Given the description of an element on the screen output the (x, y) to click on. 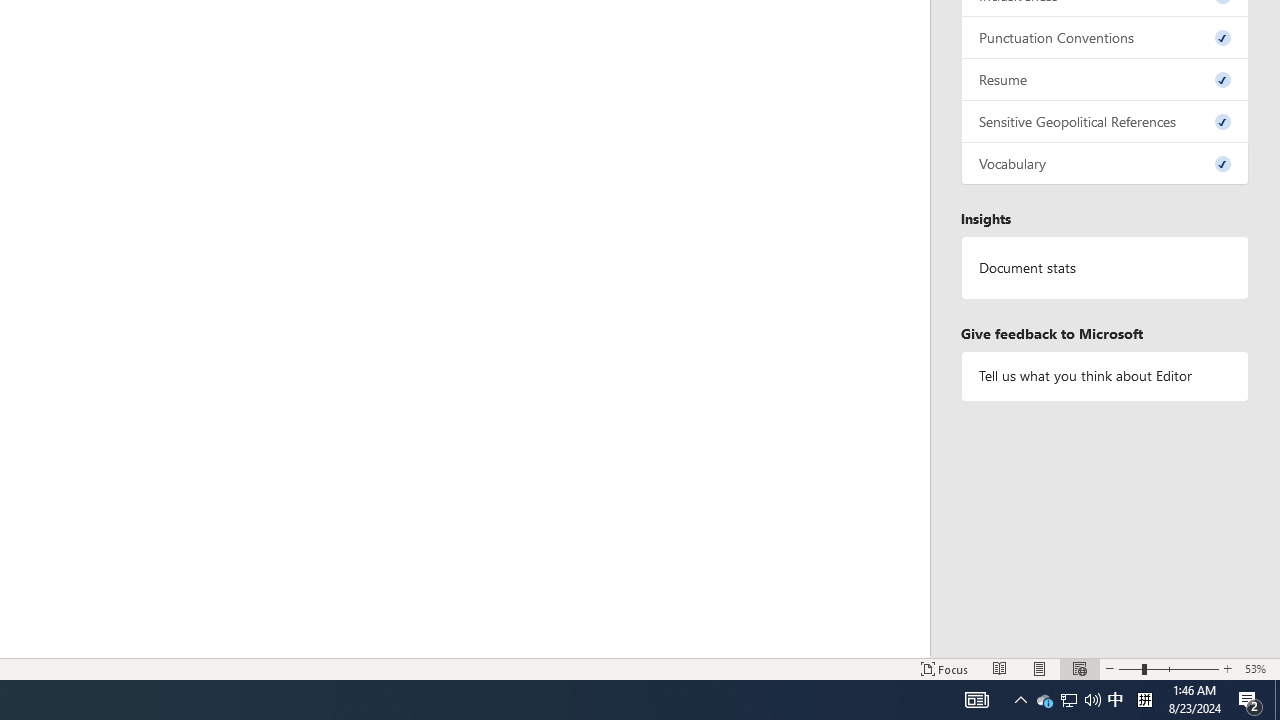
Vocabulary, 0 issues. Press space or enter to review items. (1105, 163)
Document statistics (1105, 267)
Resume, 0 issues. Press space or enter to review items. (1105, 79)
Tell us what you think about Editor (1105, 376)
Zoom 53% (1258, 668)
